Given the description of an element on the screen output the (x, y) to click on. 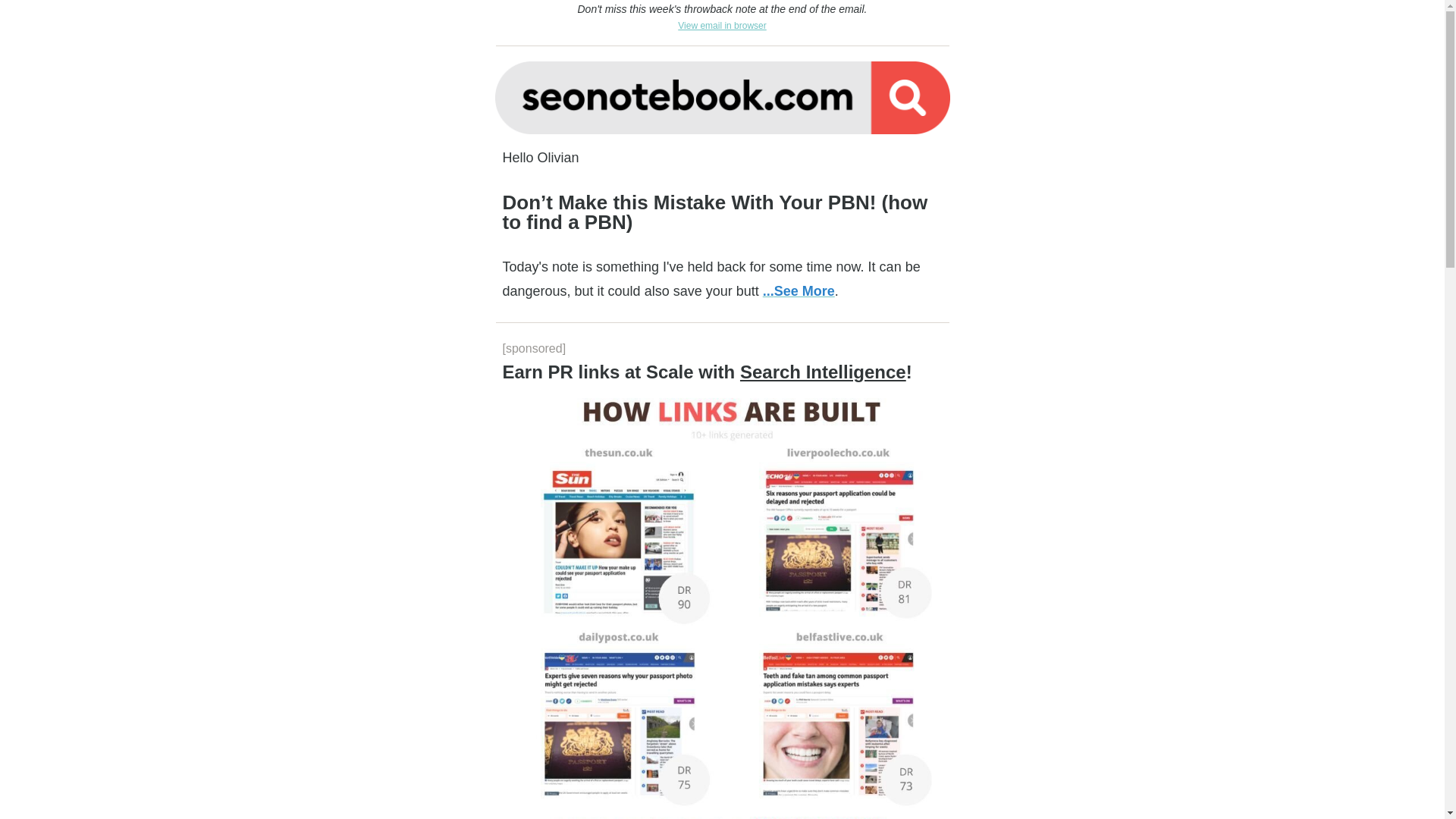
Search Intelligence (822, 371)
...See More (798, 291)
View email in browser (722, 24)
